Given the description of an element on the screen output the (x, y) to click on. 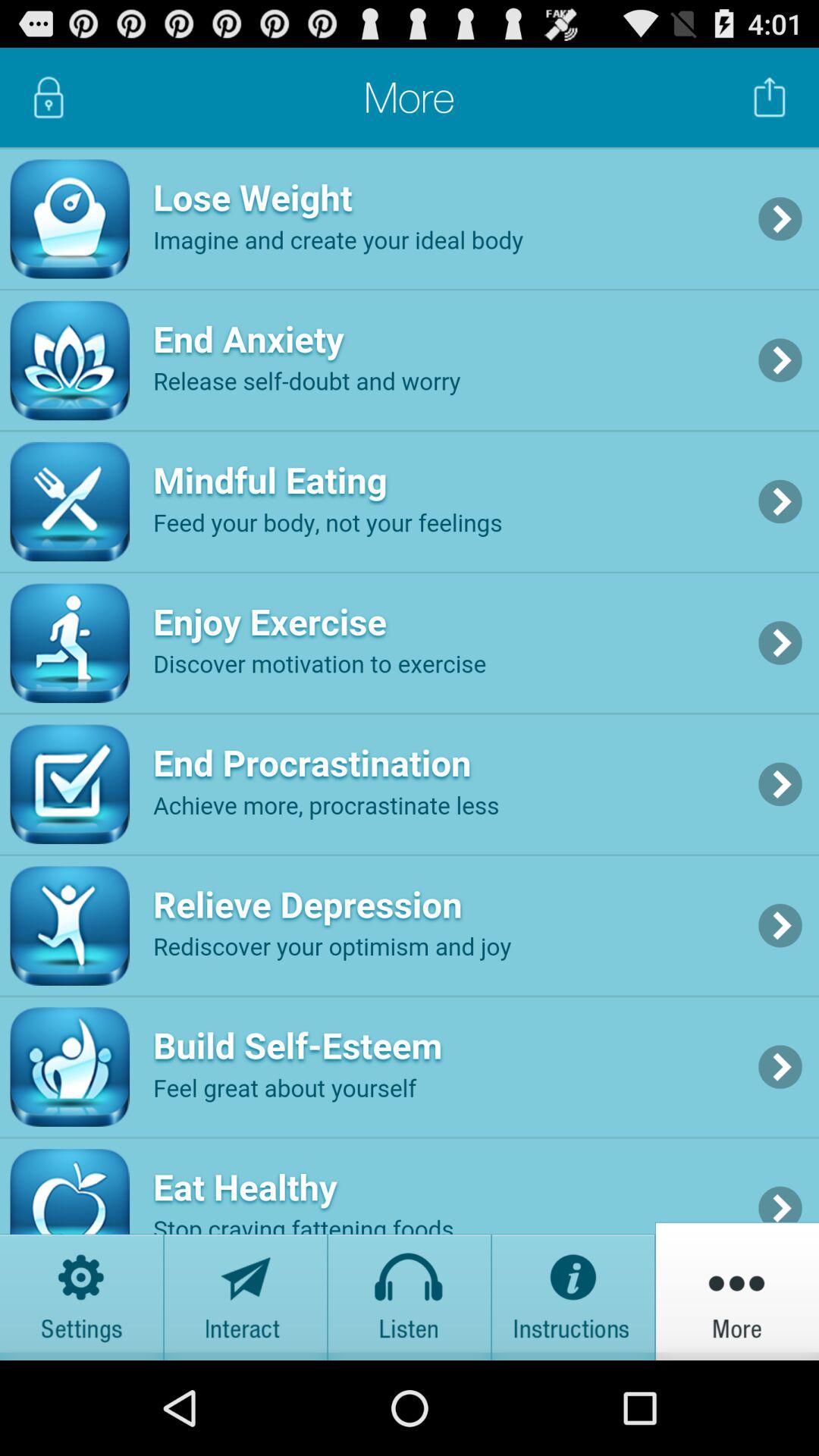
open settings (81, 1290)
